Given the description of an element on the screen output the (x, y) to click on. 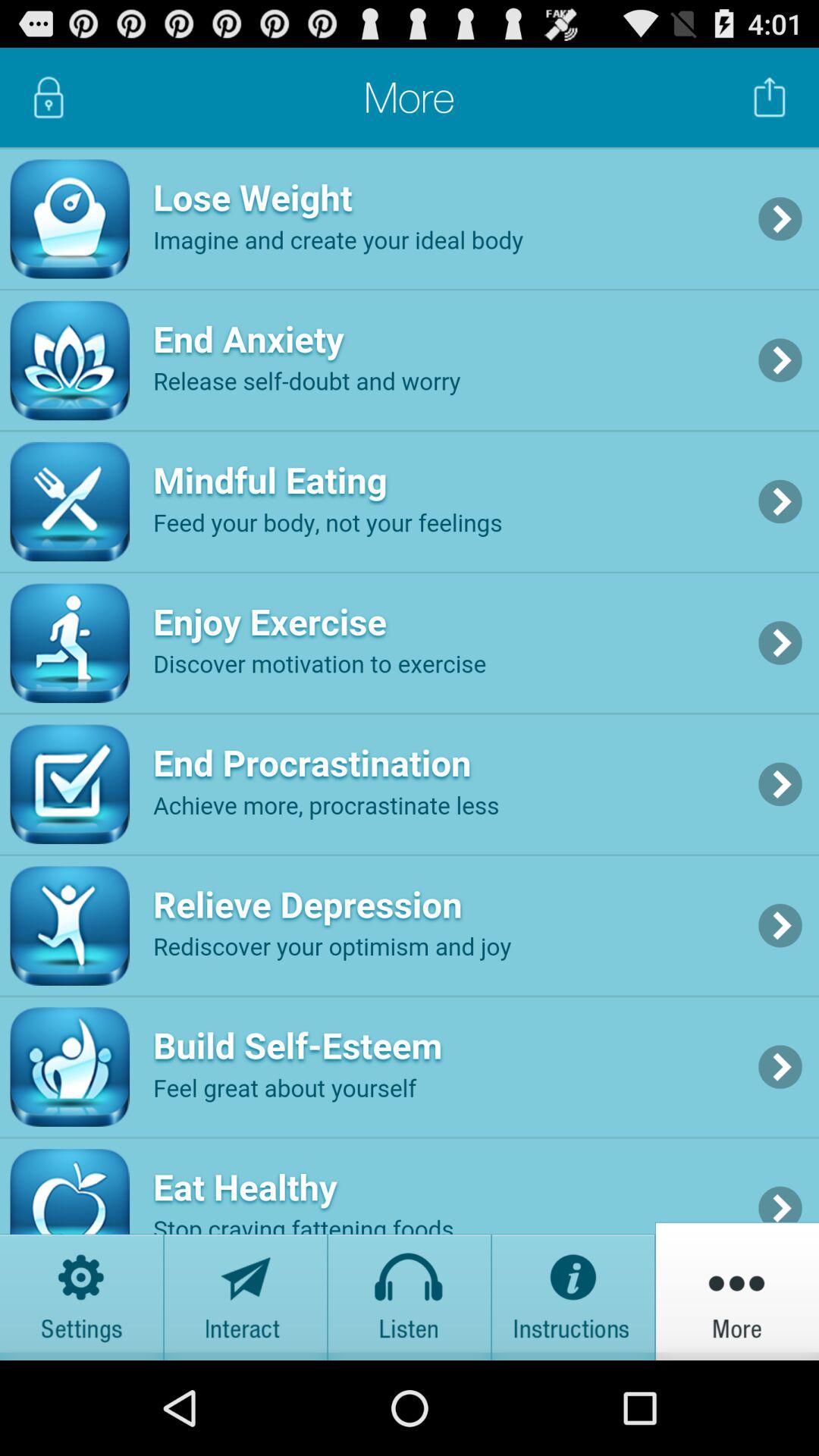
open settings (81, 1290)
